Given the description of an element on the screen output the (x, y) to click on. 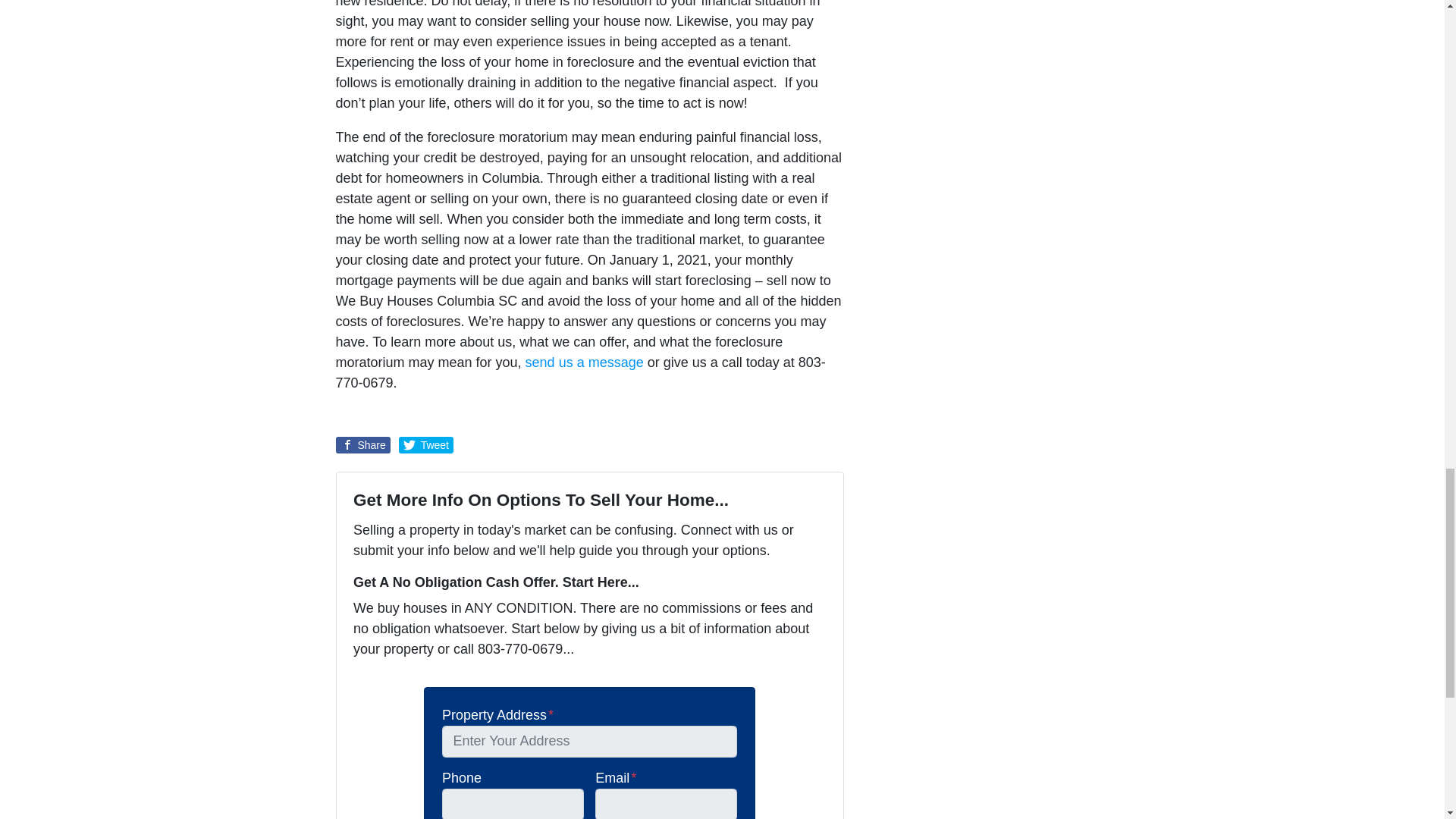
send us a message (584, 362)
Tweet (425, 444)
Share on Twitter (425, 444)
Share on Facebook (362, 444)
Share (362, 444)
